Given the description of an element on the screen output the (x, y) to click on. 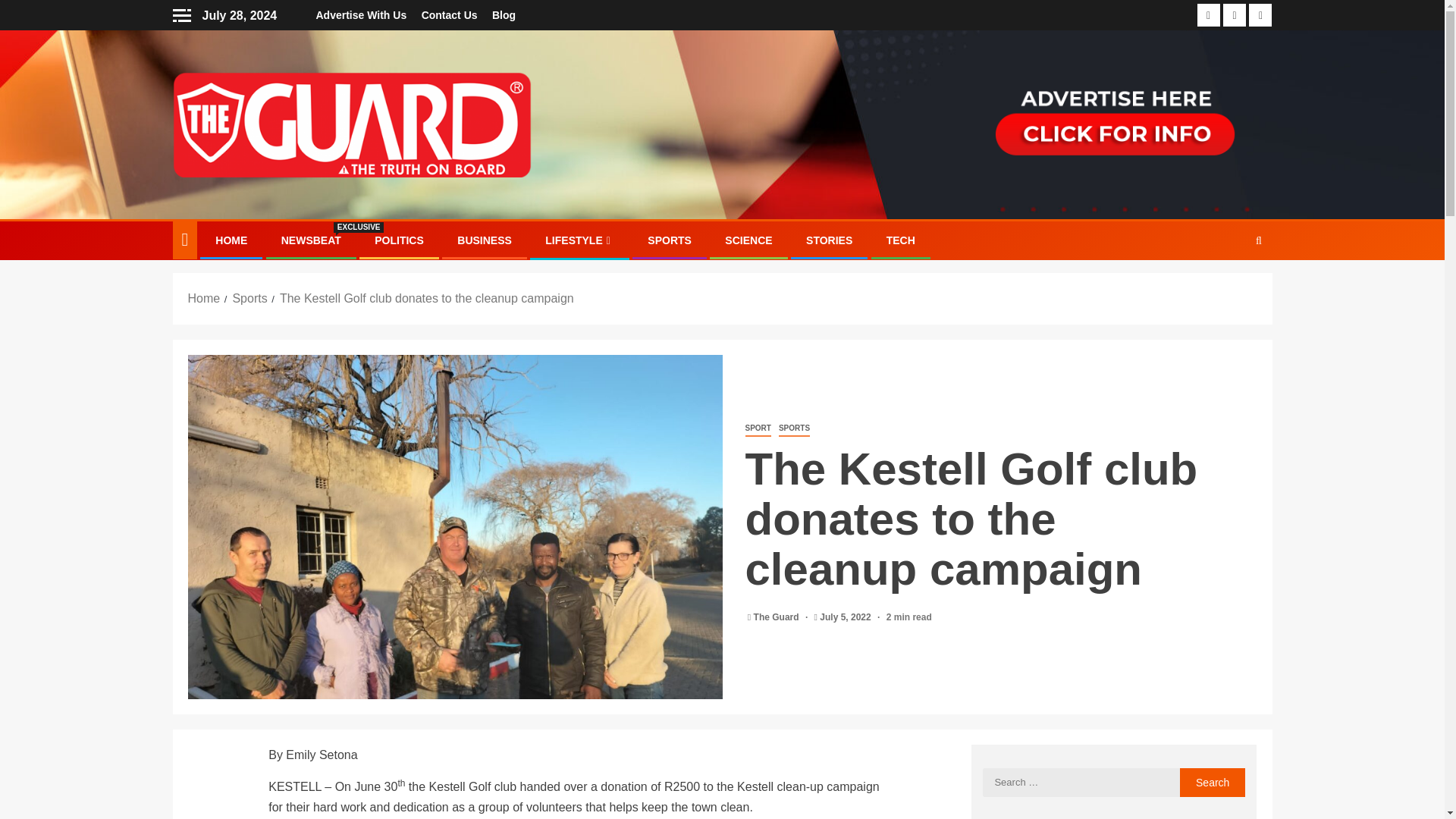
STORIES (828, 240)
TECH (900, 240)
Contact Us (449, 15)
Search (1229, 287)
Search (1212, 782)
Home (204, 297)
LIFESTYLE (579, 240)
Search (310, 240)
HOME (1212, 782)
SCIENCE (231, 240)
BUSINESS (748, 240)
SPORTS (484, 240)
Blog (669, 240)
Advertise With Us (503, 15)
